Given the description of an element on the screen output the (x, y) to click on. 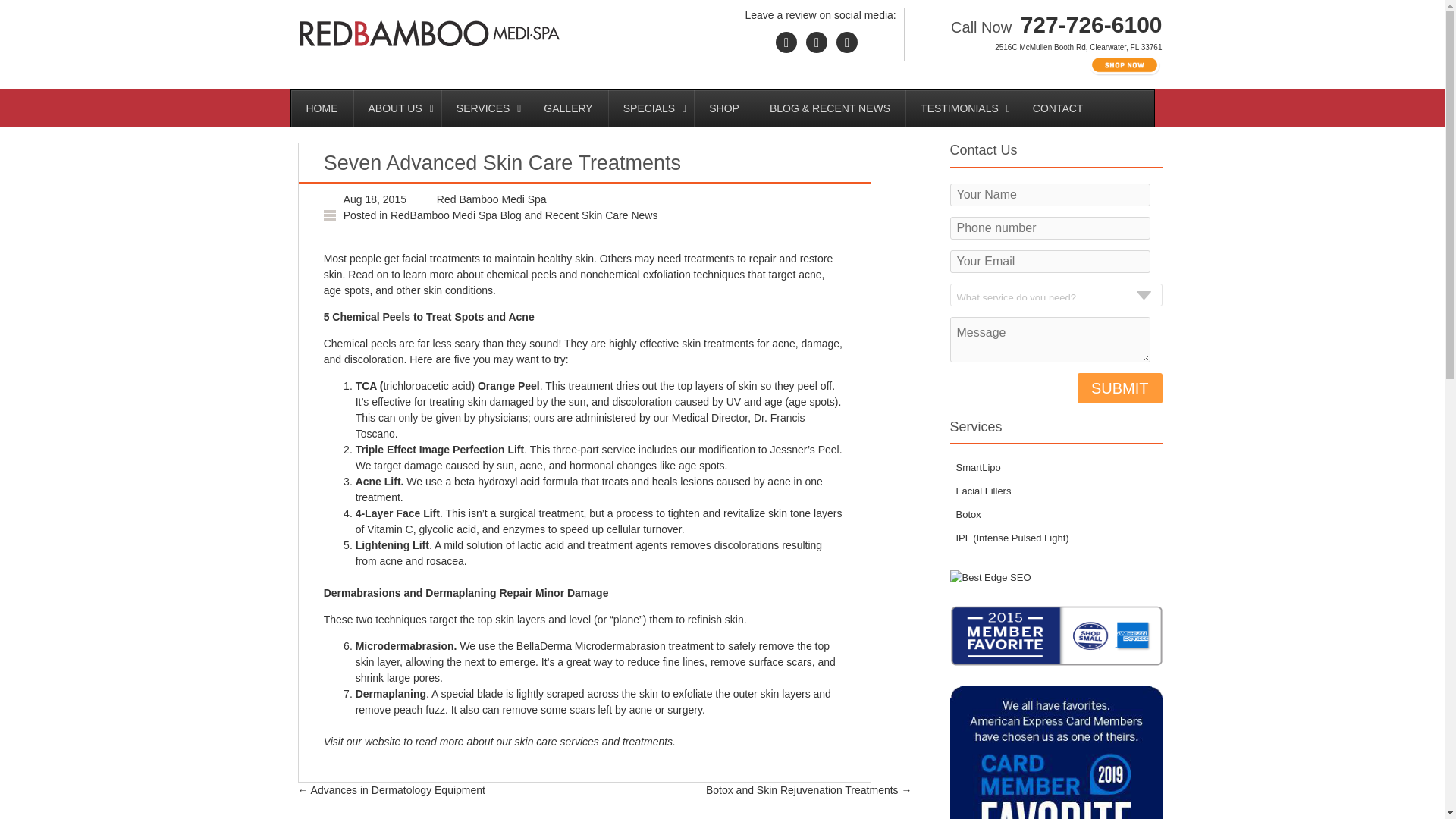
skin care services and treatments (593, 741)
Red Bamboo Medi Spa (491, 199)
2516C McMullen Booth Rd, Clearwater, FL 33761 (1077, 47)
ABOUT US (397, 108)
SHOP (724, 108)
GALLERY (567, 108)
RedBamboo Medi Spa Blog and Recent Skin Care News (524, 215)
youtube (816, 42)
instagram (847, 42)
727-726-6100 (1088, 24)
